Given the description of an element on the screen output the (x, y) to click on. 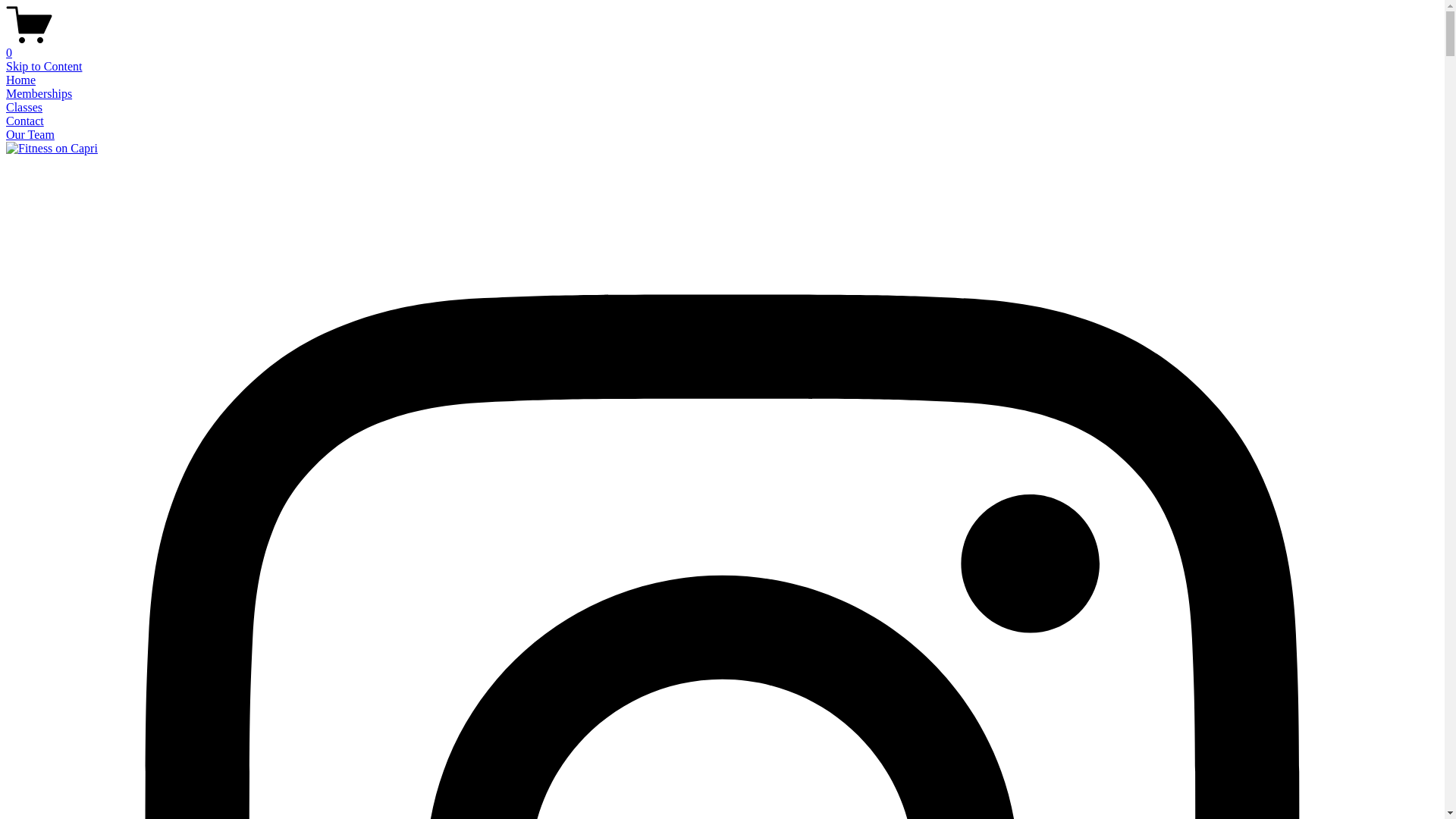
0 Element type: text (722, 45)
Memberships Element type: text (39, 93)
Skip to Content Element type: text (43, 65)
Our Team Element type: text (30, 134)
Classes Element type: text (24, 106)
Home Element type: text (20, 79)
Contact Element type: text (24, 120)
